Given the description of an element on the screen output the (x, y) to click on. 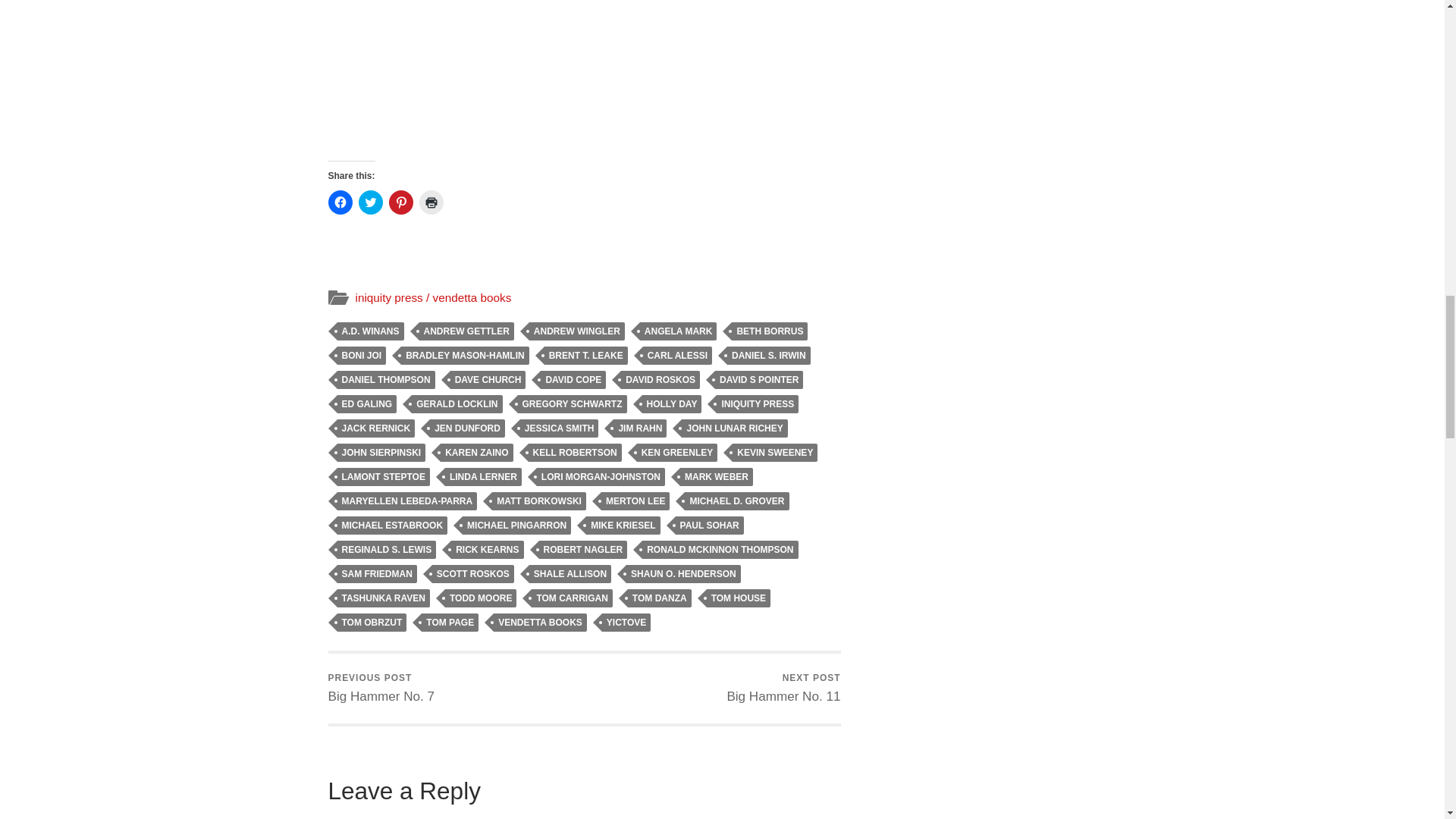
JEN DUNFORD (467, 428)
DANIEL THOMPSON (384, 380)
Click to share on Facebook (339, 202)
CARL ALESSI (677, 355)
DANIEL S. IRWIN (768, 355)
BRADLEY MASON-HAMLIN (464, 355)
GERALD LOCKLIN (457, 403)
INIQUITY PRESS (756, 403)
ANDREW WINGLER (576, 331)
DAVID ROSKOS (660, 380)
